Given the description of an element on the screen output the (x, y) to click on. 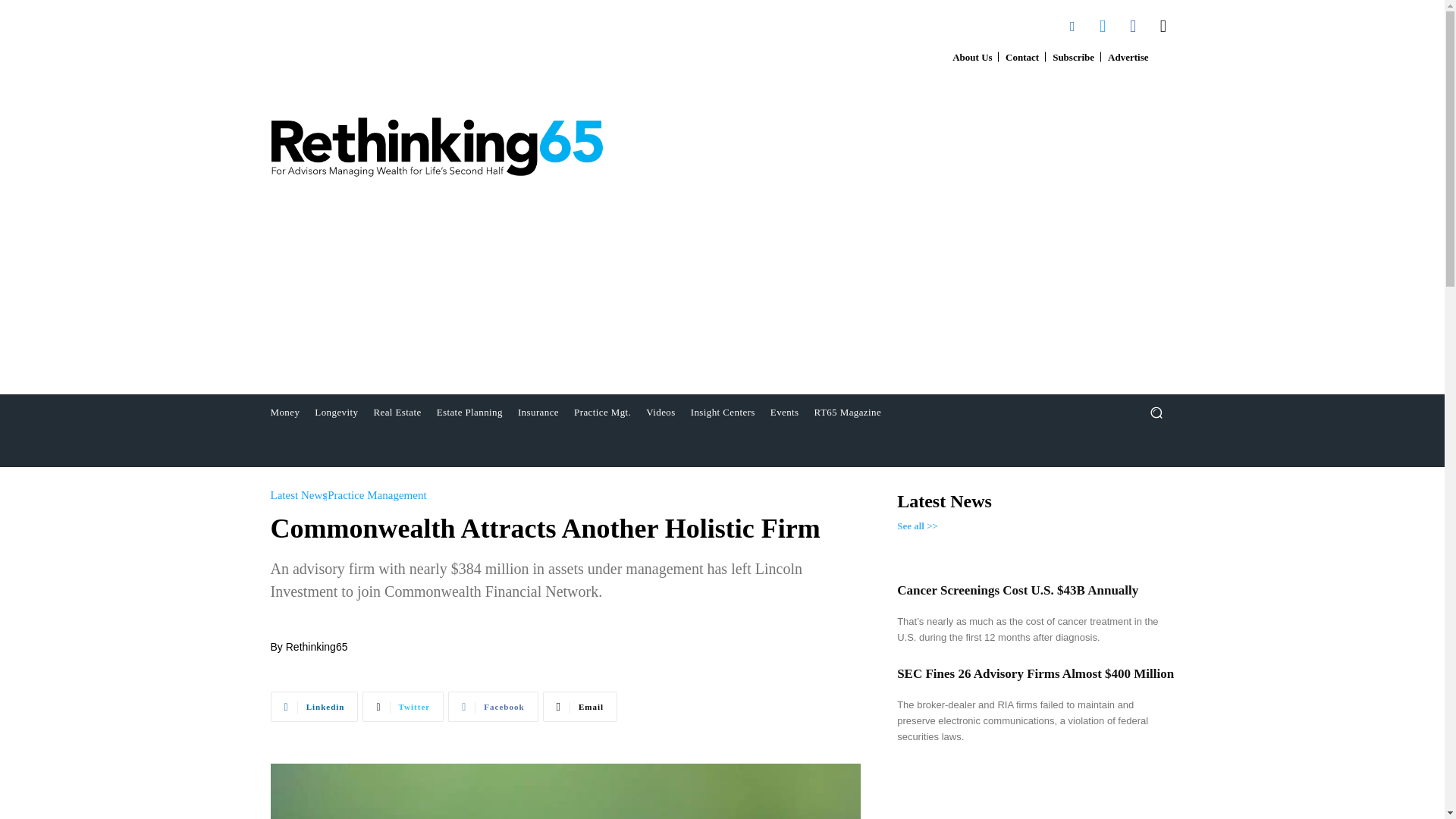
Subscribe To Our Newsletter (1072, 56)
Linkedin (1072, 26)
Twitter (1101, 26)
Facebook (1132, 26)
Instagram (1162, 26)
